Given the description of an element on the screen output the (x, y) to click on. 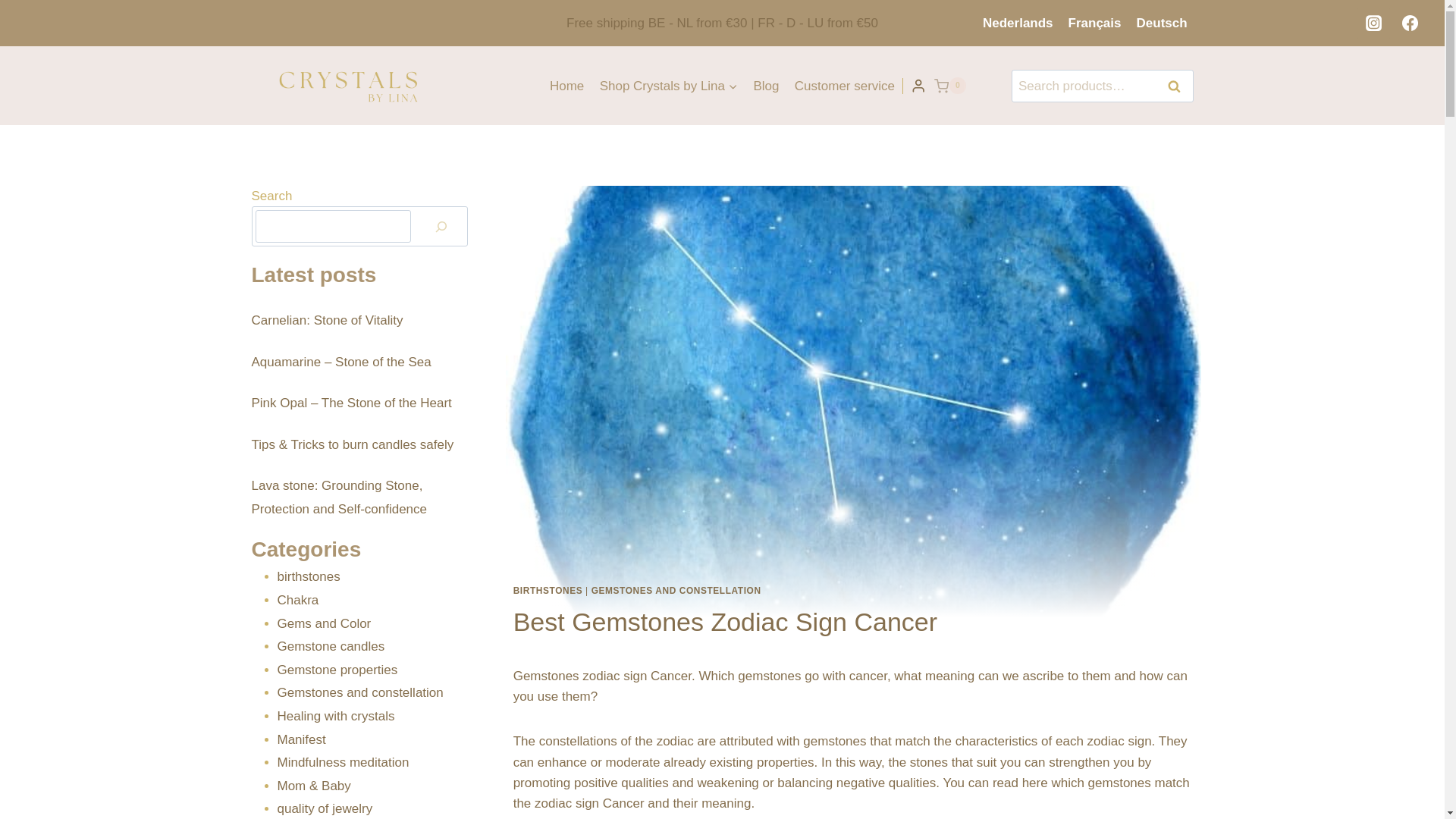
Deutsch (1162, 23)
Nederlands (1018, 23)
Customer service (844, 85)
Home (566, 85)
Blog (765, 85)
Shop Crystals by Lina (668, 85)
Search (1174, 85)
0 (950, 85)
